Given the description of an element on the screen output the (x, y) to click on. 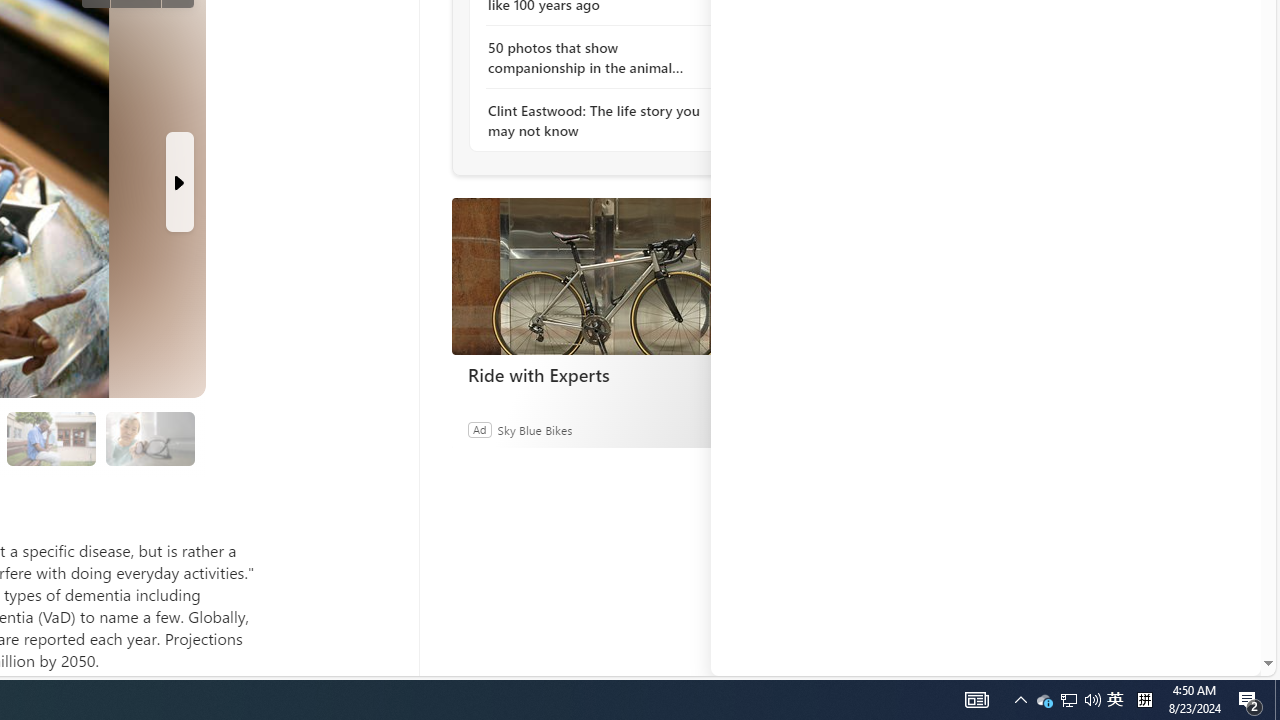
Misplacing things and losing the ability to retrace steps (149, 438)
Ad (479, 429)
New problems with words in speaking or writing (51, 438)
Ride with Experts (601, 374)
Sky Blue Bikes (534, 429)
Ride with Experts (601, 276)
Ad Choice (729, 429)
50 photos that show companionship in the animal kingdom (596, 57)
Class: progress (149, 435)
Next Slide (179, 181)
Feedback (1185, 659)
Misplacing things and losing the ability to retrace steps (150, 439)
Clint Eastwood: The life story you may not know (596, 120)
